Given the description of an element on the screen output the (x, y) to click on. 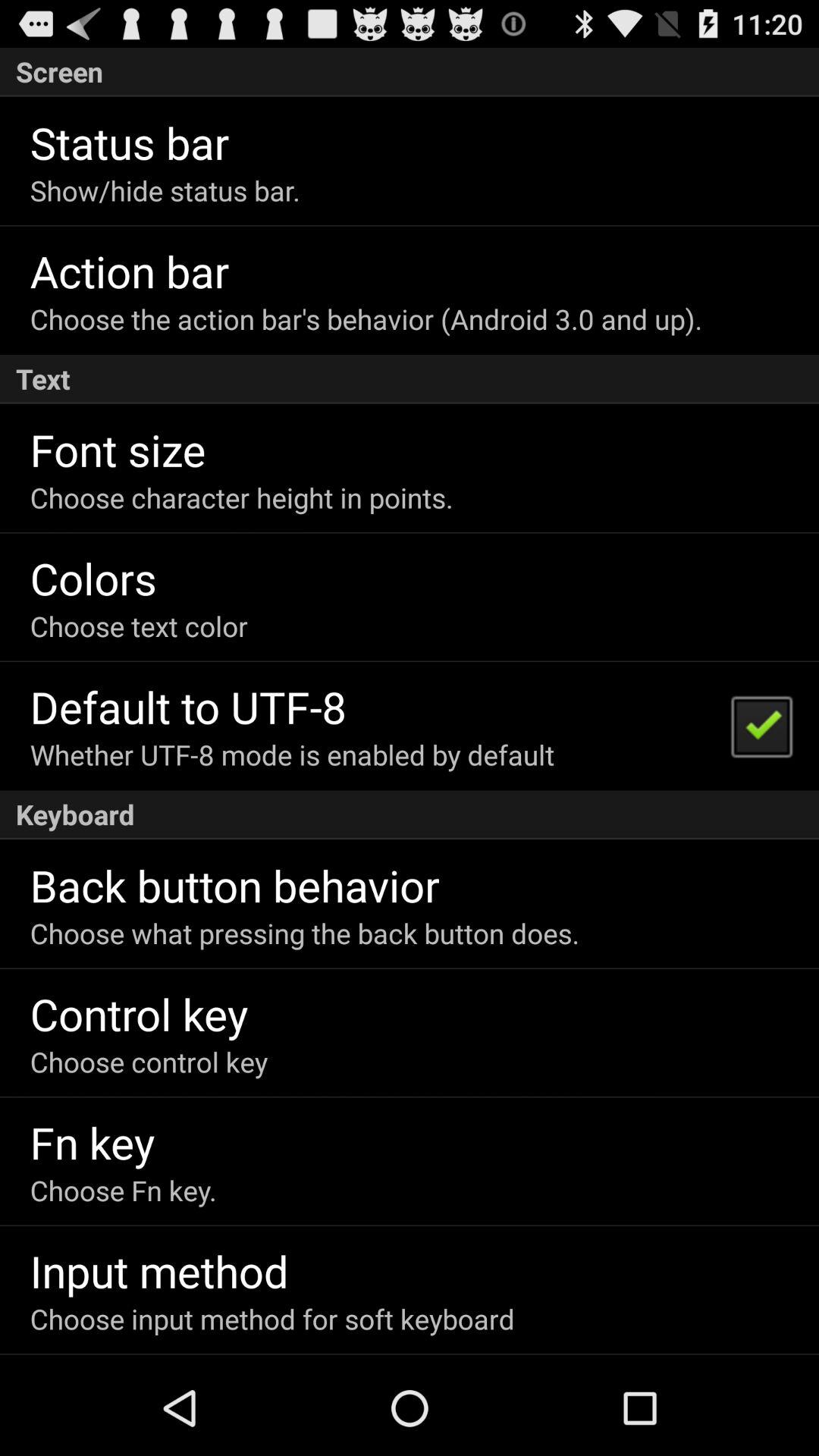
tap the item on the right (761, 725)
